Given the description of an element on the screen output the (x, y) to click on. 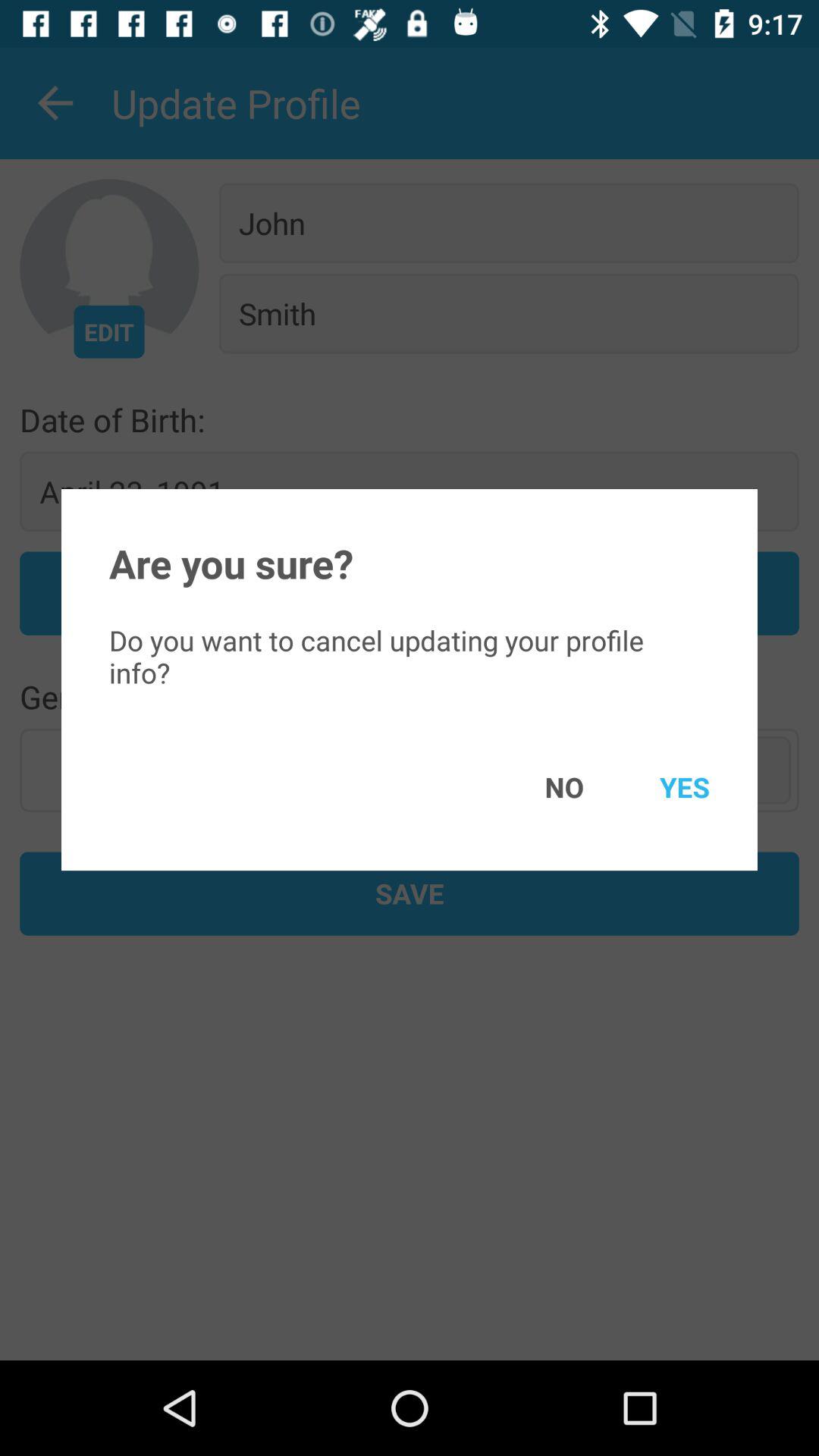
turn on no (542, 786)
